Given the description of an element on the screen output the (x, y) to click on. 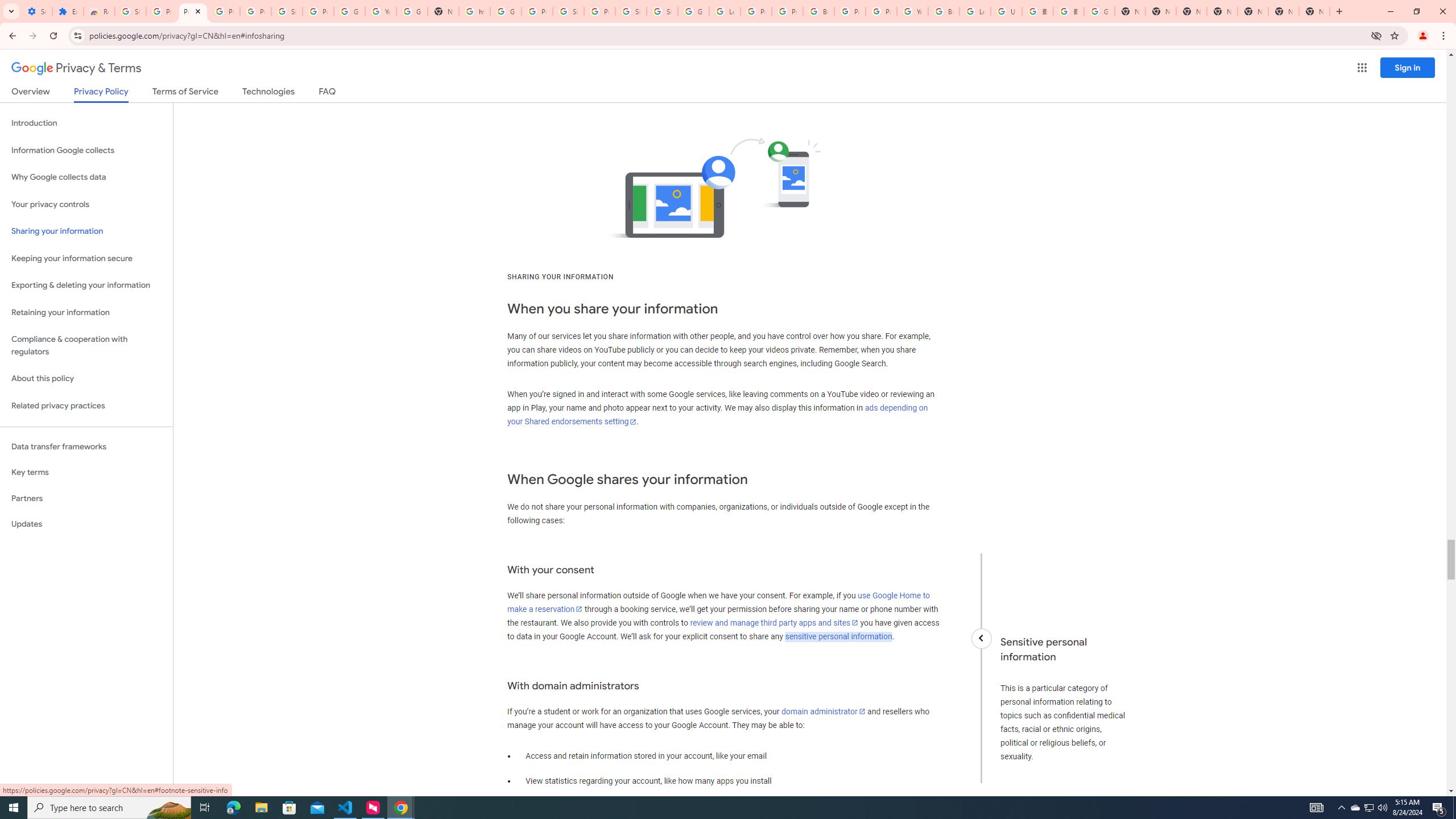
Terms of Service (184, 93)
ads depending on your Shared endorsements setting (717, 414)
YouTube (912, 11)
domain administrator (823, 710)
Browse Chrome as a guest - Computer - Google Chrome Help (943, 11)
Google Account (349, 11)
Data transfer frameworks (86, 446)
